Given the description of an element on the screen output the (x, y) to click on. 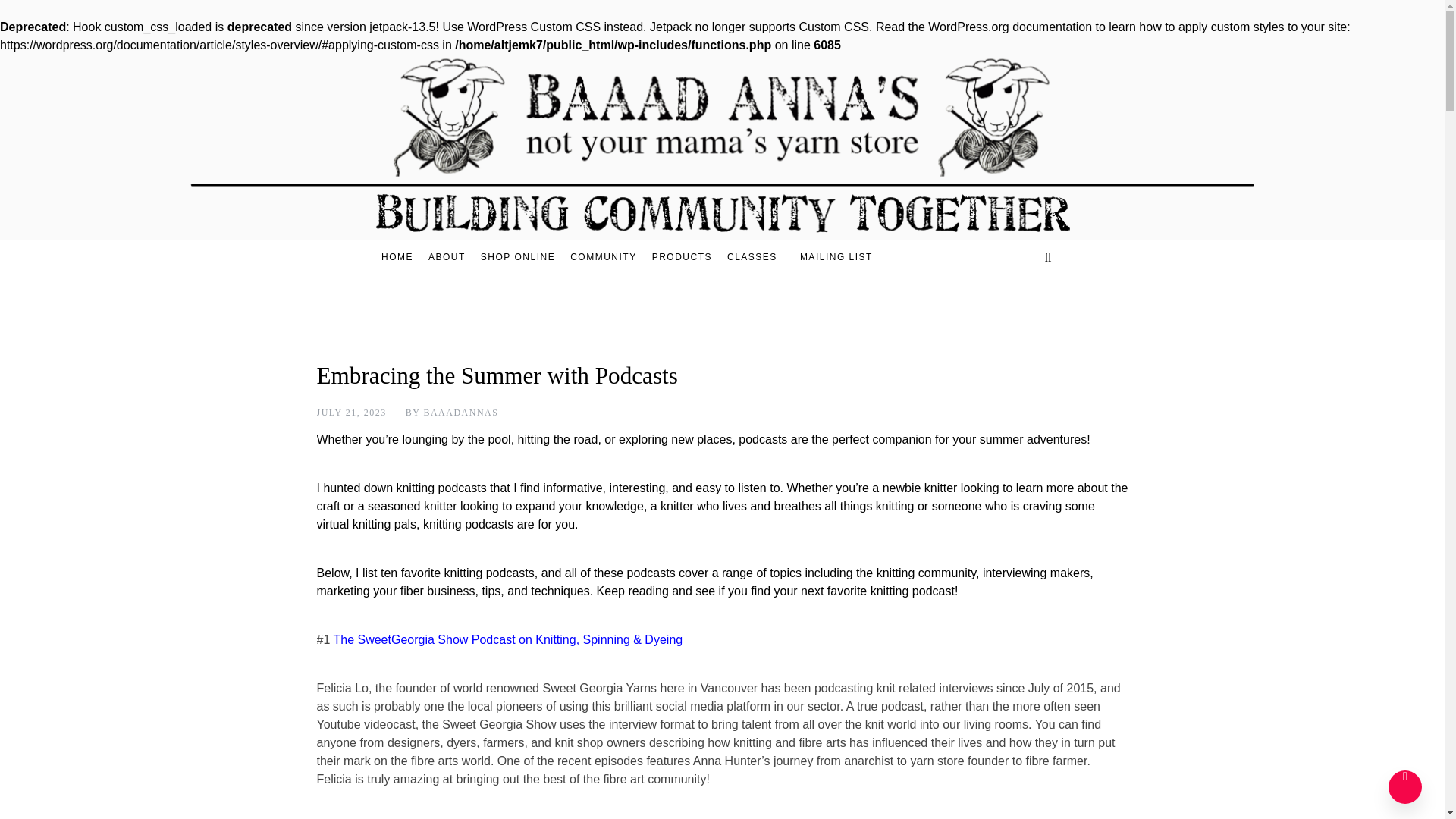
MAILING LIST (828, 256)
Go to Top (1405, 786)
ABOUT (446, 257)
PRODUCTS (682, 257)
SHOP ONLINE (517, 257)
COMMUNITY (603, 257)
HOME (400, 257)
JULY 21, 2023 (352, 412)
BAAADANNAS (460, 412)
Baaad Anna's Yarn Store (636, 137)
